Given the description of an element on the screen output the (x, y) to click on. 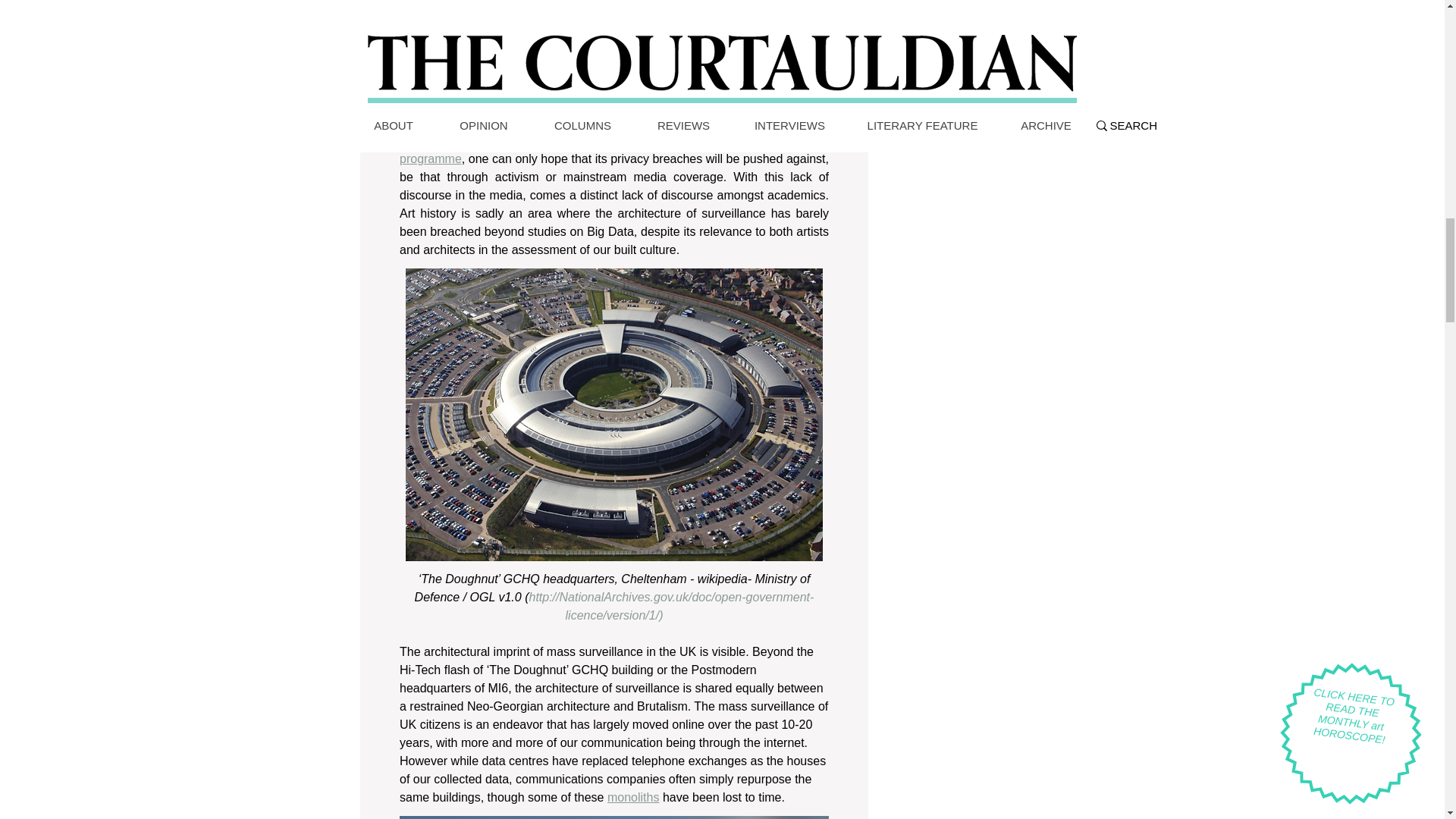
pilot programme (614, 149)
monoliths (632, 797)
issues (735, 122)
